Given the description of an element on the screen output the (x, y) to click on. 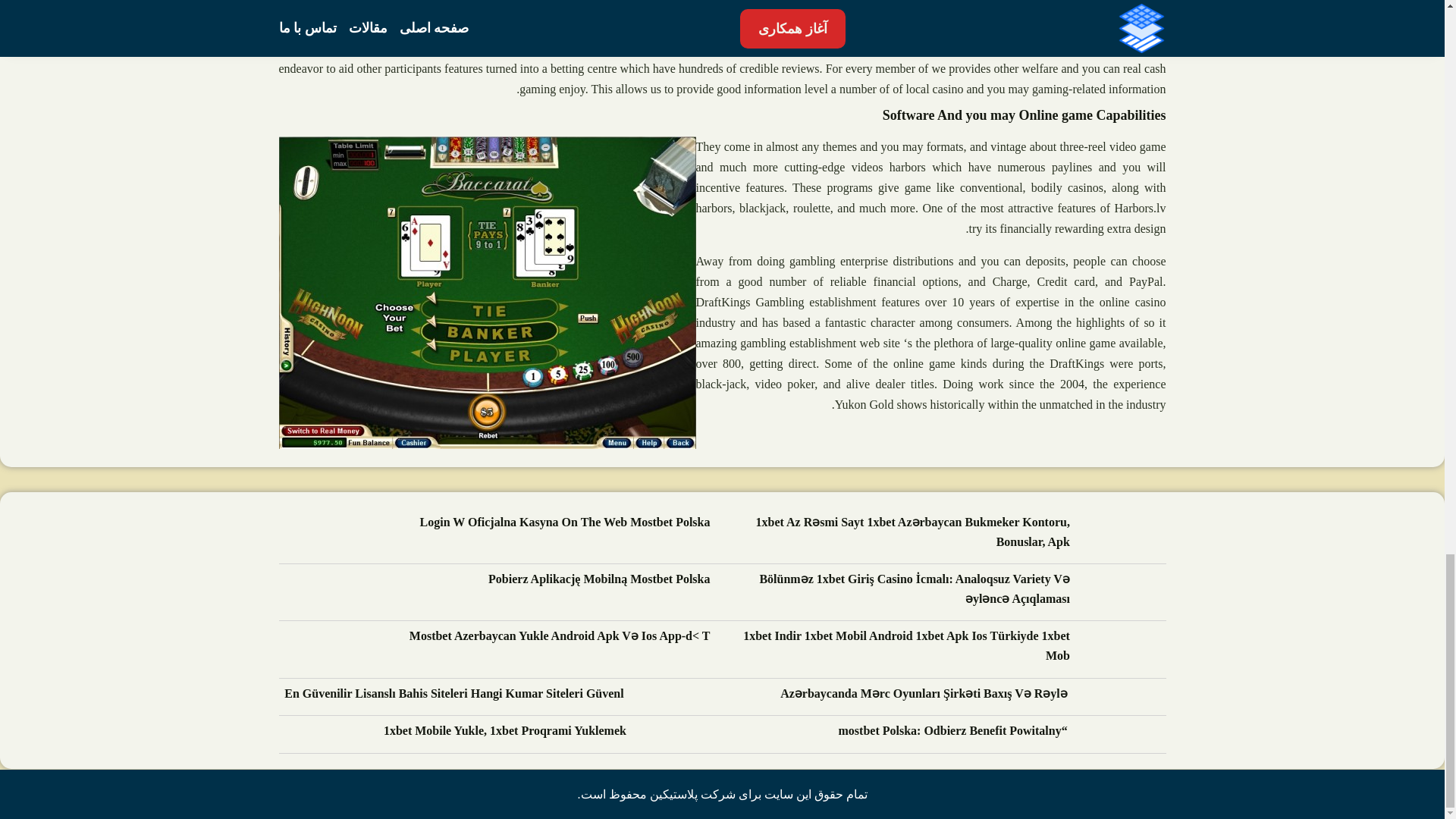
Login W Oficjalna Kasyna On The Web Mostbet Polska (565, 522)
